Given the description of an element on the screen output the (x, y) to click on. 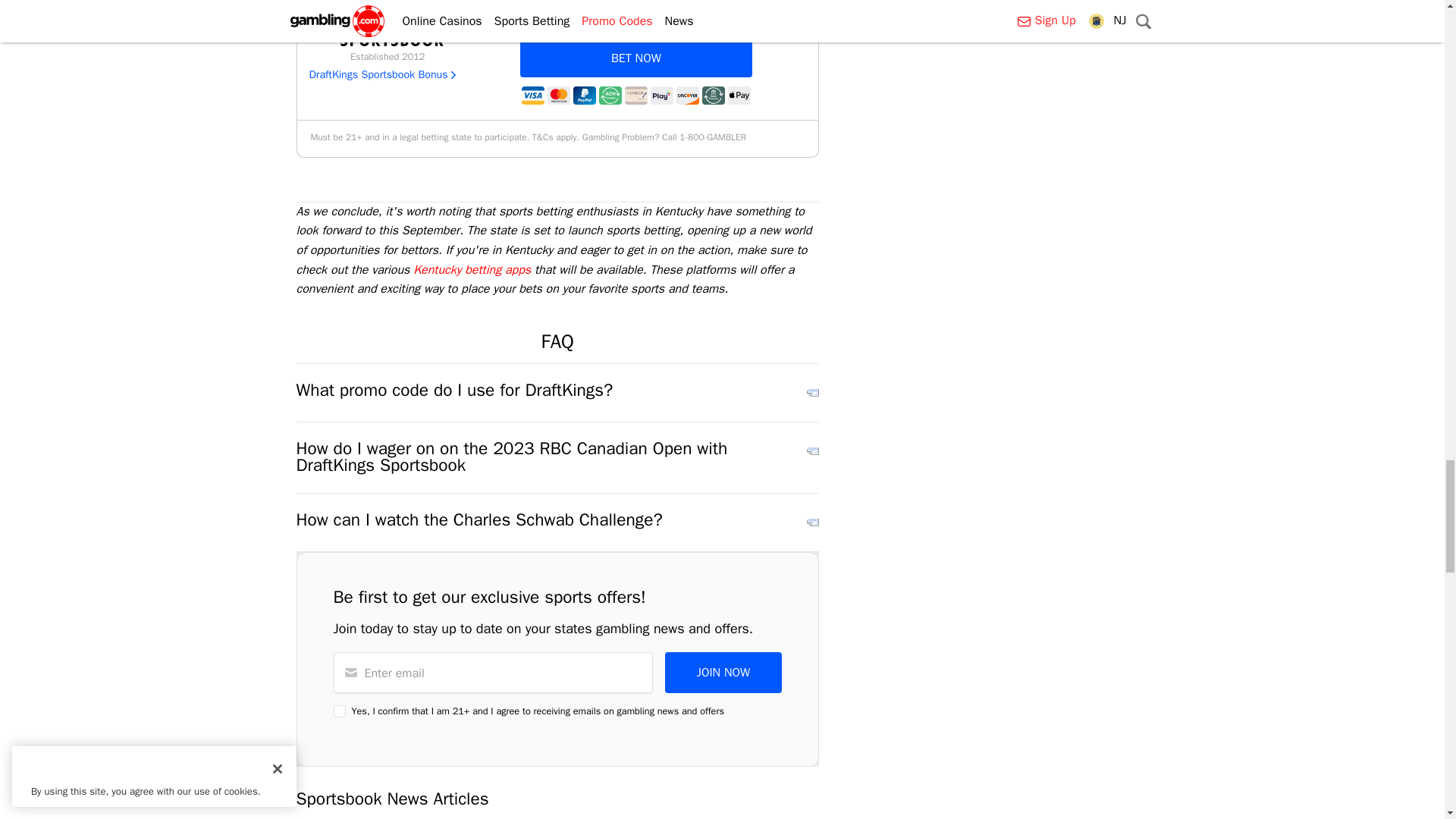
ACH Transfer (609, 95)
MasterCard (558, 95)
DraftKings Sports (387, 24)
PayPal (584, 95)
VISA (532, 95)
on (339, 711)
